Given the description of an element on the screen output the (x, y) to click on. 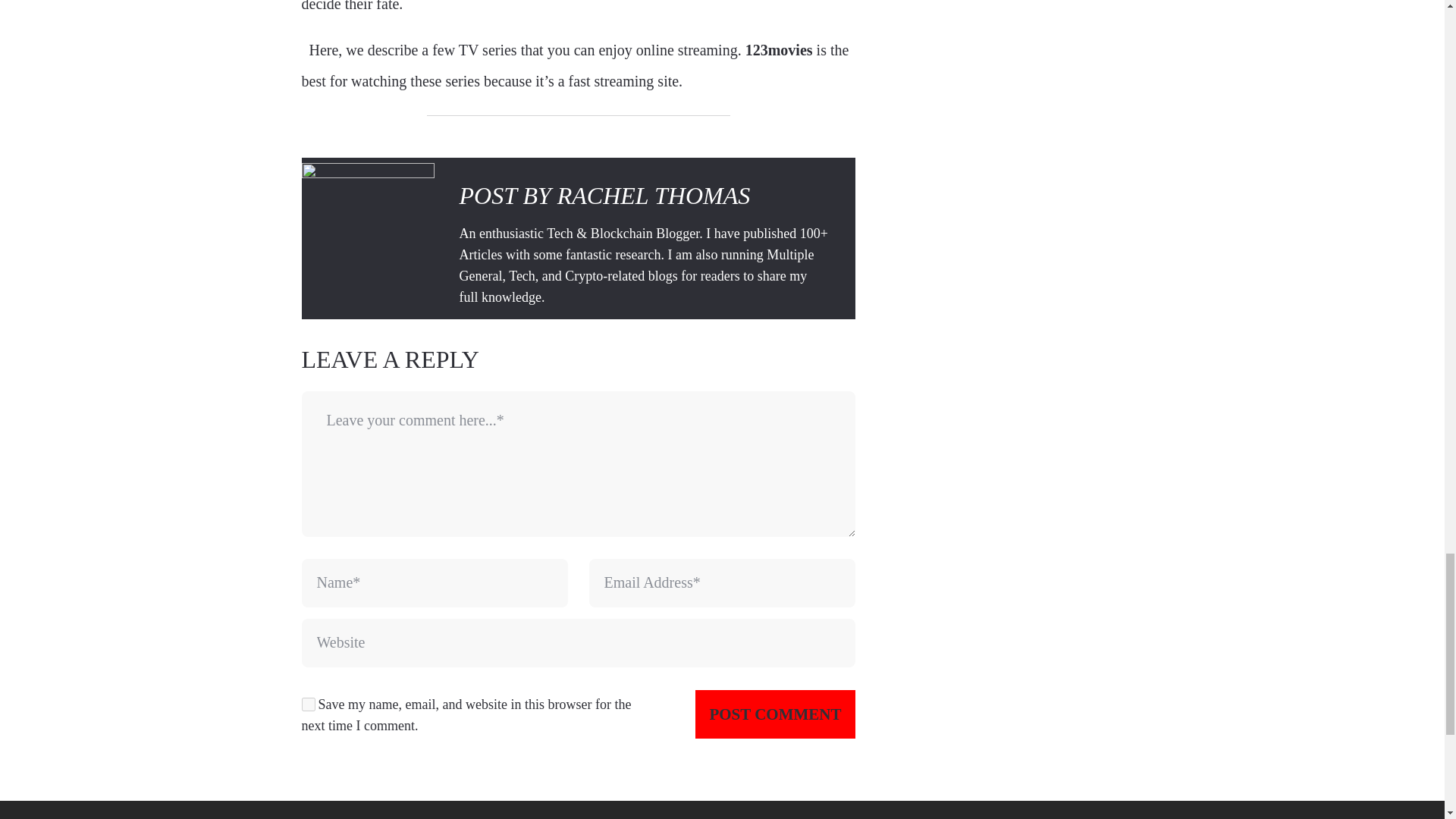
RACHEL THOMAS (654, 195)
yes (308, 704)
Post Comment (774, 714)
Post Comment (774, 714)
